Given the description of an element on the screen output the (x, y) to click on. 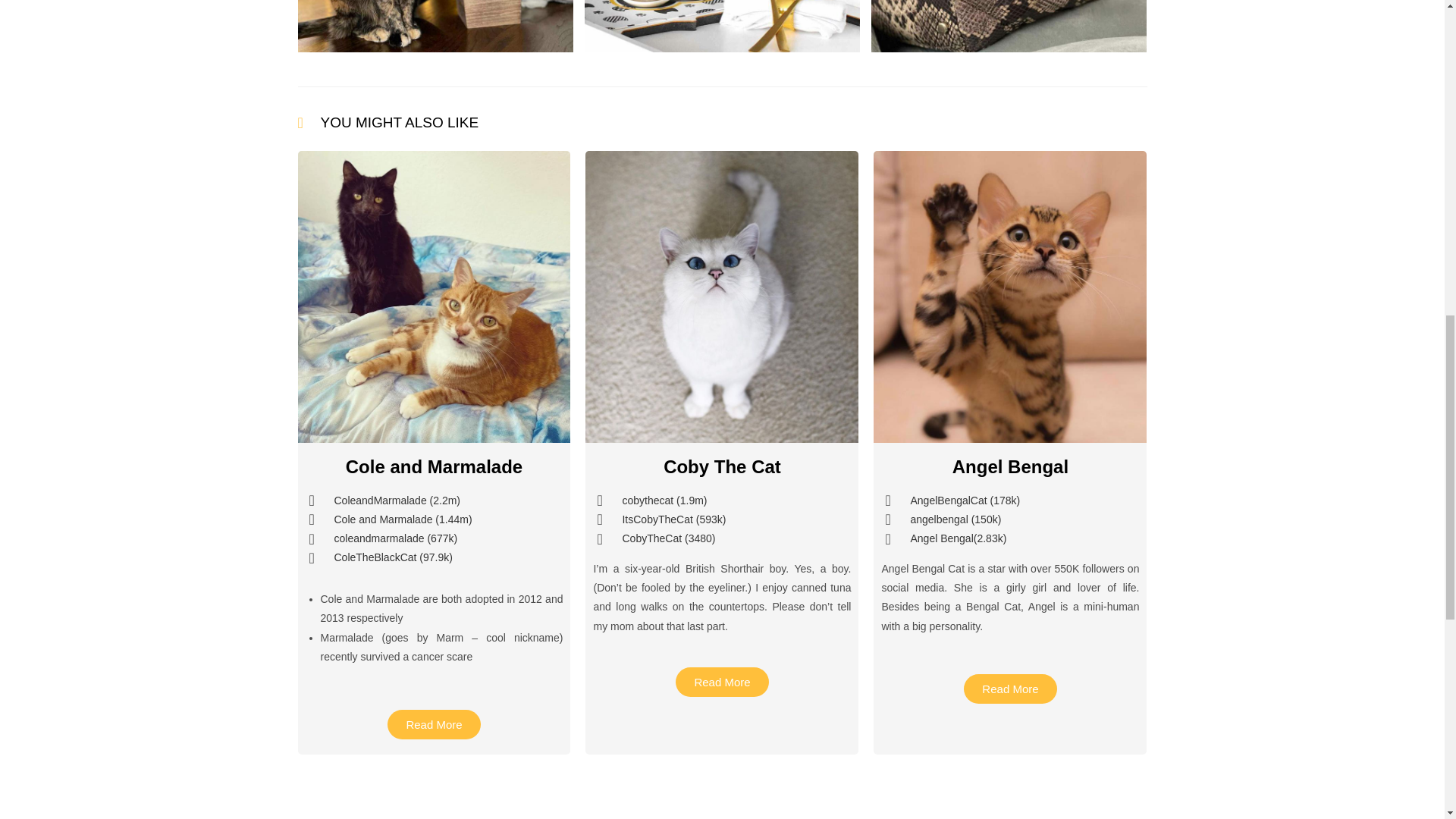
Venus the Two Face Cat03 (434, 25)
